Given the description of an element on the screen output the (x, y) to click on. 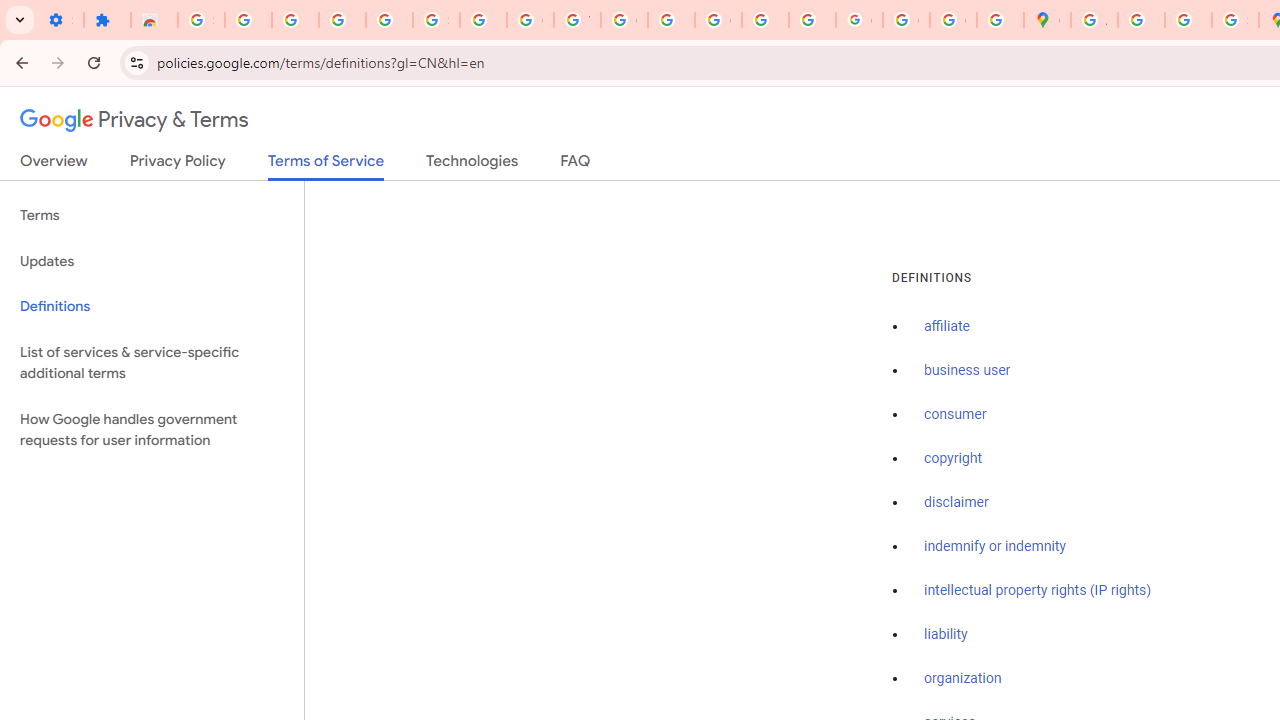
Google Account (530, 20)
intellectual property rights (IP rights) (1038, 590)
